Given the description of an element on the screen output the (x, y) to click on. 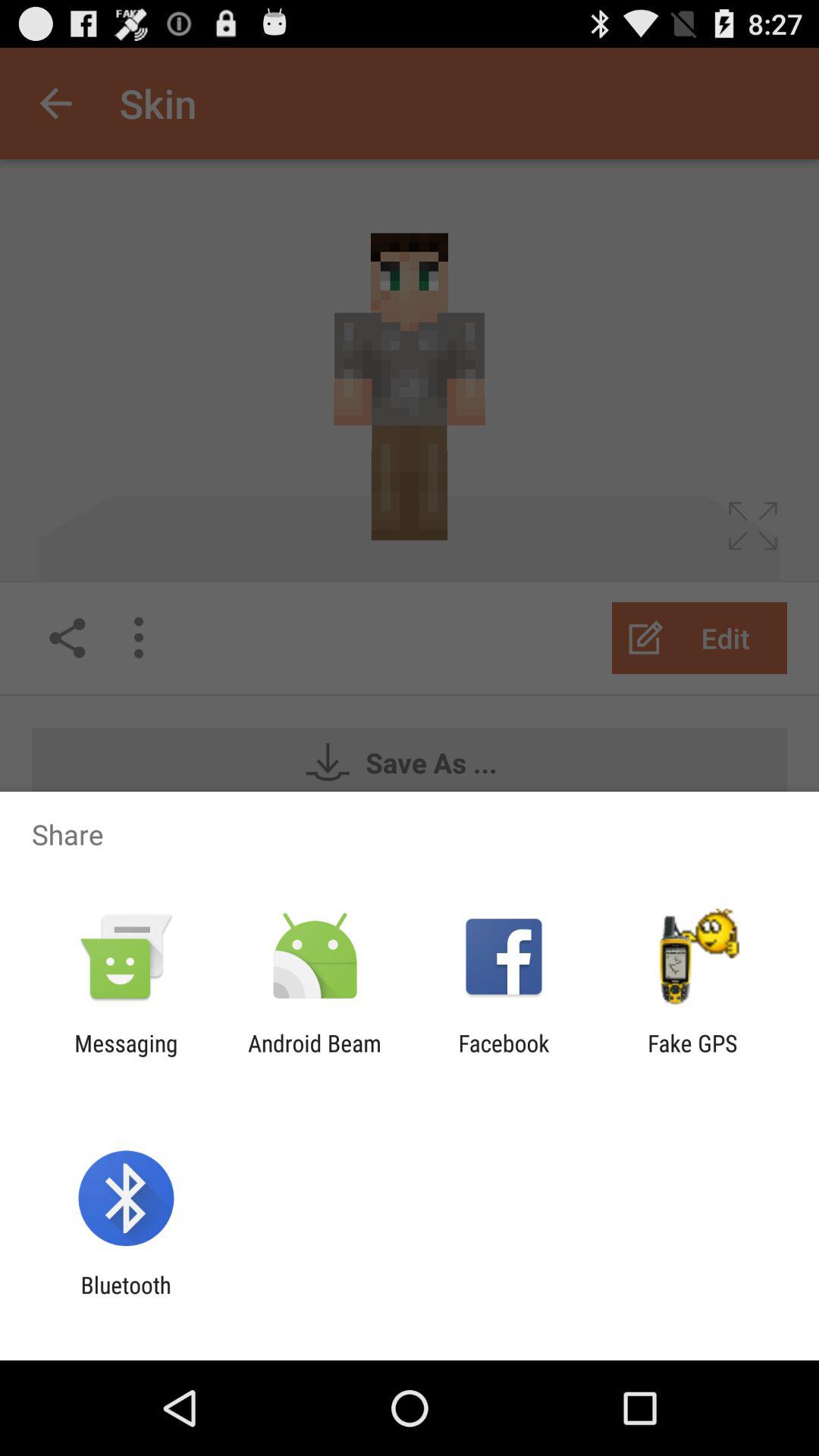
select the item to the right of android beam icon (503, 1056)
